Given the description of an element on the screen output the (x, y) to click on. 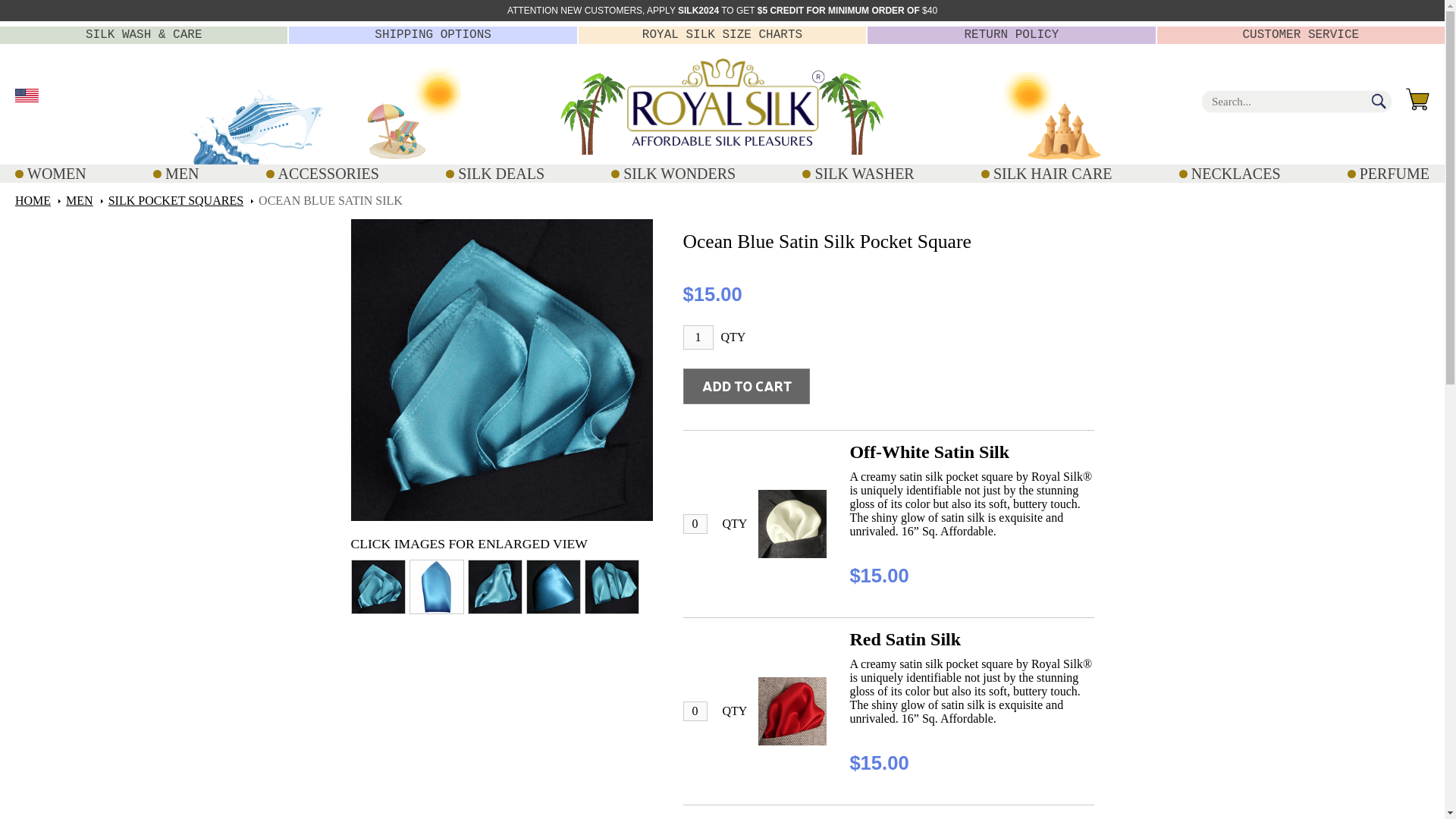
WOMEN (49, 173)
Silk washer (893, 817)
0 (694, 711)
ROYAL SILK SIZE CHARTS (722, 34)
0 (694, 523)
MEN (175, 173)
ACCESSORIES (322, 173)
Royal Silk Size Charts (722, 35)
Return Policy (1010, 35)
1 (697, 337)
